Given the description of an element on the screen output the (x, y) to click on. 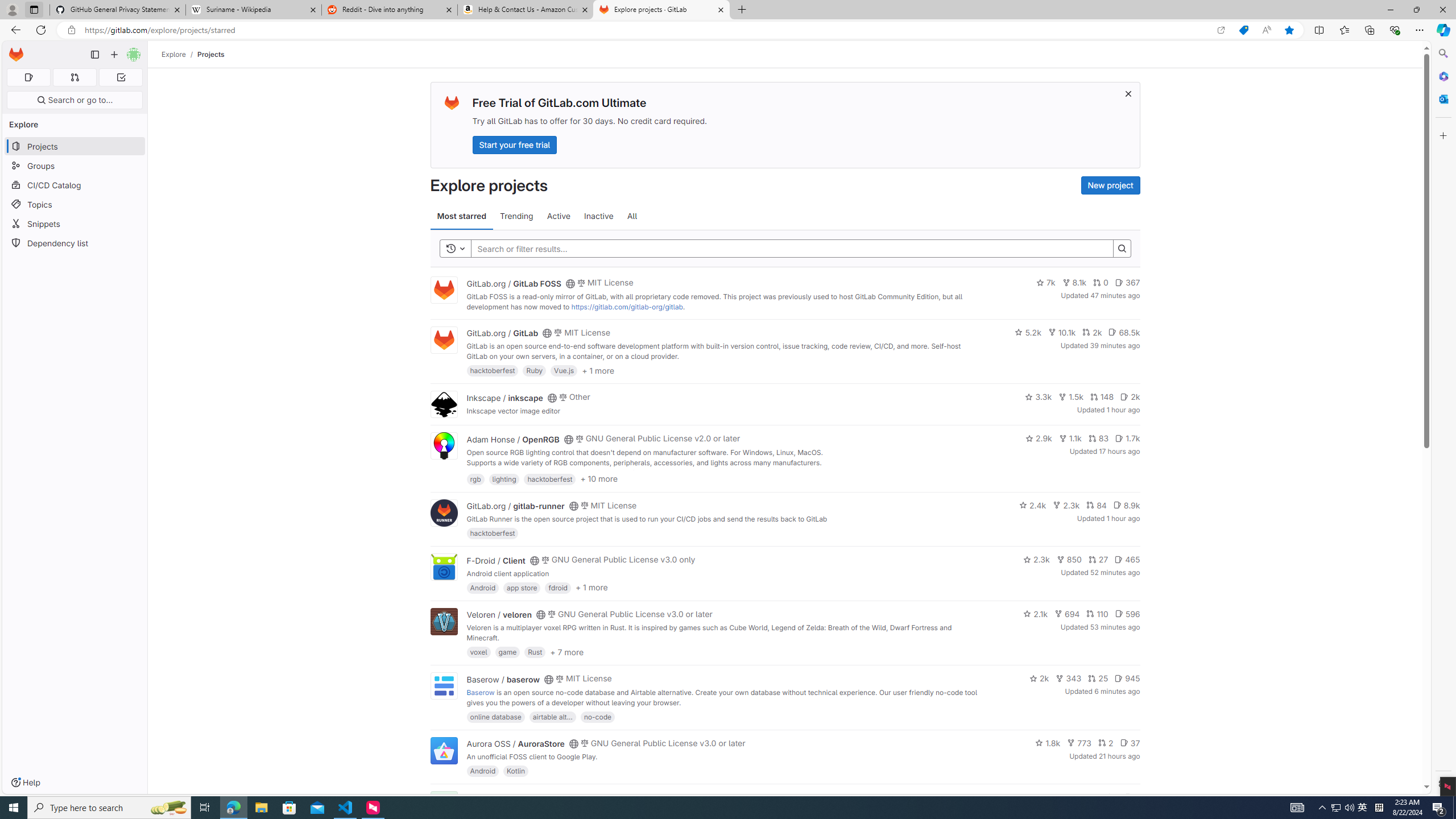
Most starred (461, 216)
143 (1085, 797)
F (443, 805)
Snippets (74, 223)
945 (1127, 678)
Inactive (598, 216)
Active (559, 216)
Class: s14 gl-mr-2 (1128, 796)
F-Droid / Client (495, 560)
Dependency list (74, 242)
Inkscape / inkscape (504, 397)
